Given the description of an element on the screen output the (x, y) to click on. 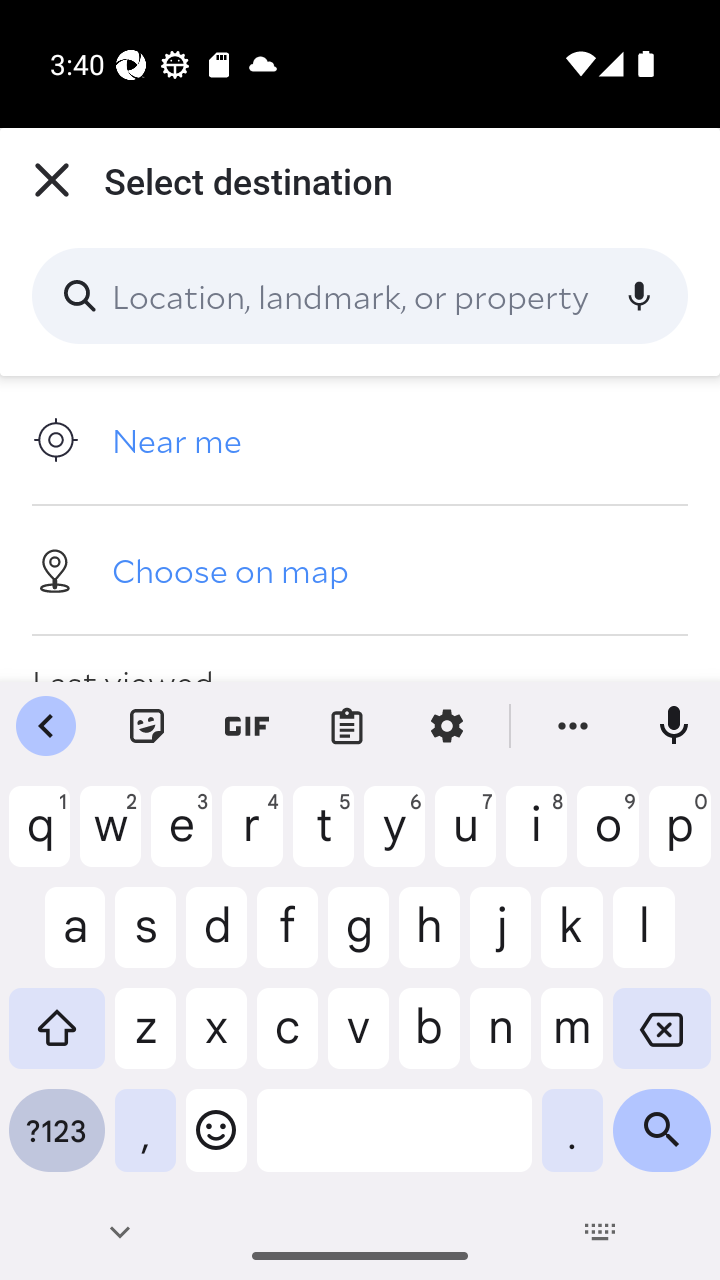
Location, landmark, or property (359, 296)
Near me (360, 440)
Choose on map (360, 569)
